Given the description of an element on the screen output the (x, y) to click on. 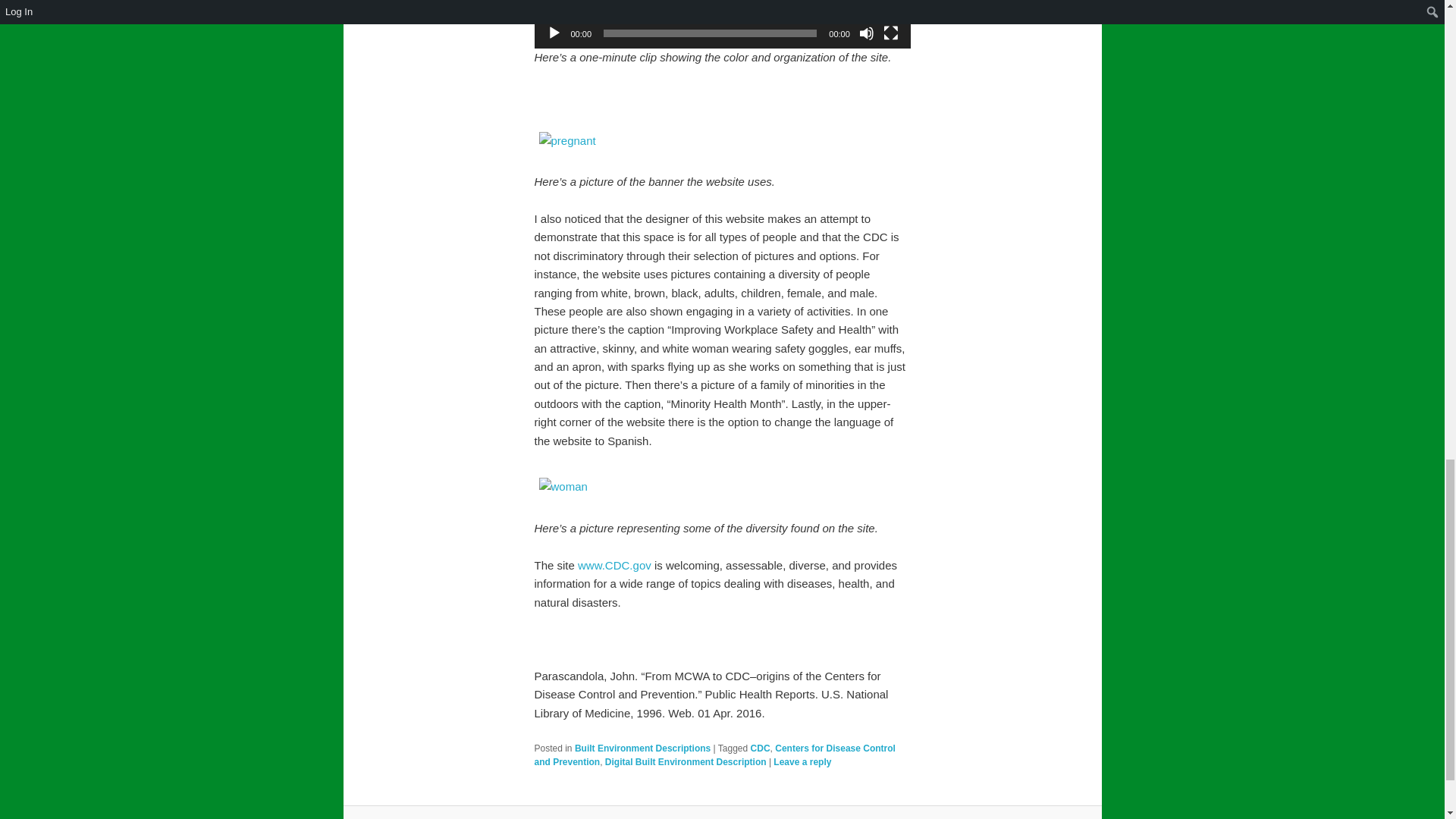
Built Environment Descriptions (642, 747)
www.CDC.gov (614, 564)
Fullscreen (890, 32)
Play (553, 32)
Mute (867, 32)
Centers for Disease Control and Prevention (714, 754)
Leave a reply (802, 761)
Digital Built Environment Description (686, 761)
CDC (760, 747)
